Given the description of an element on the screen output the (x, y) to click on. 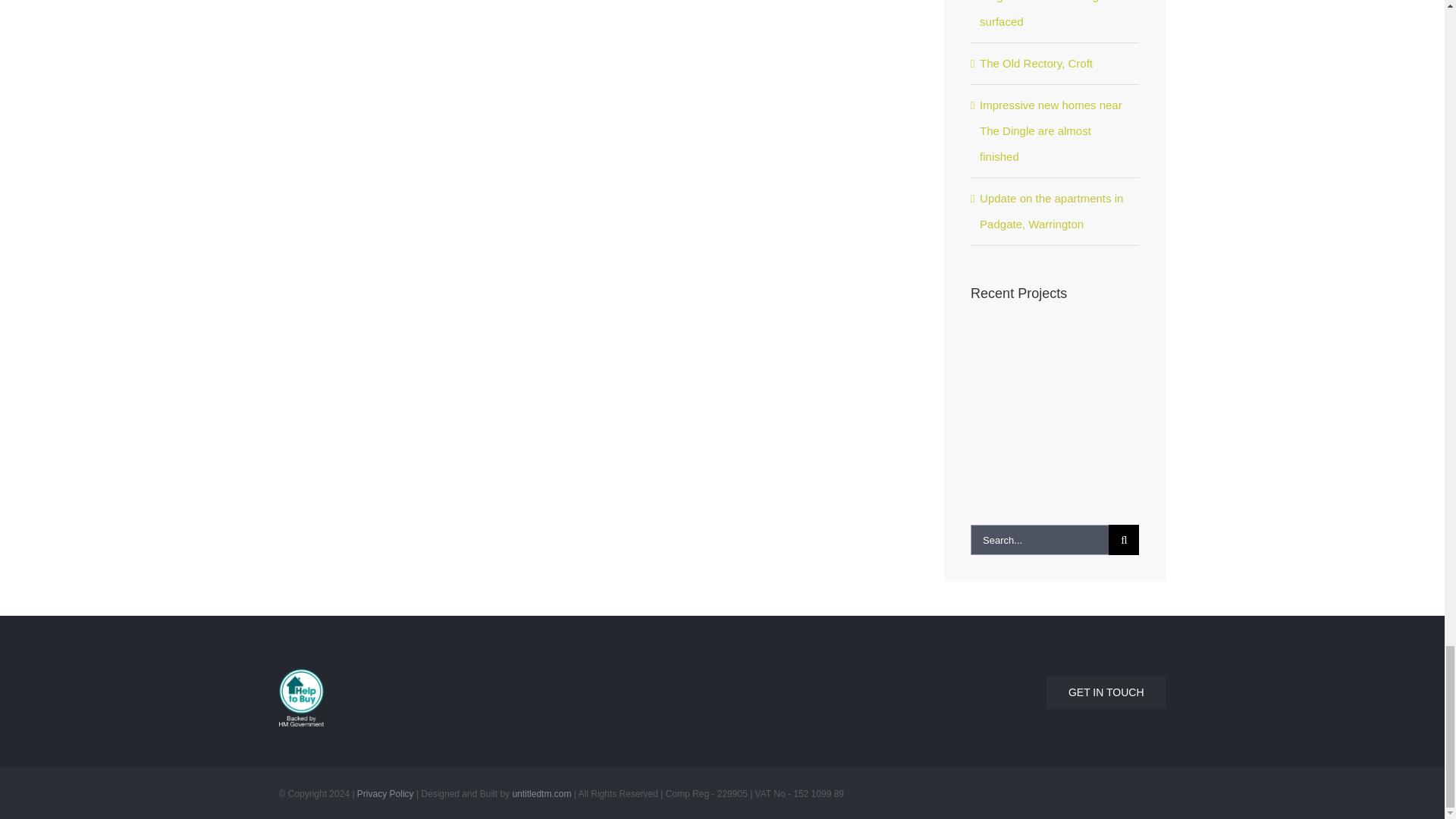
Ennerdale Avenue, Chorlton-Cum-Hardy, Manchester (997, 353)
GET IN TOUCH (949, 683)
280 Knutsford Road, Warrington Co-Op Convenience Store (1052, 353)
Chester Road, Kelsall, CW6 0RN (1107, 353)
